Given the description of an element on the screen output the (x, y) to click on. 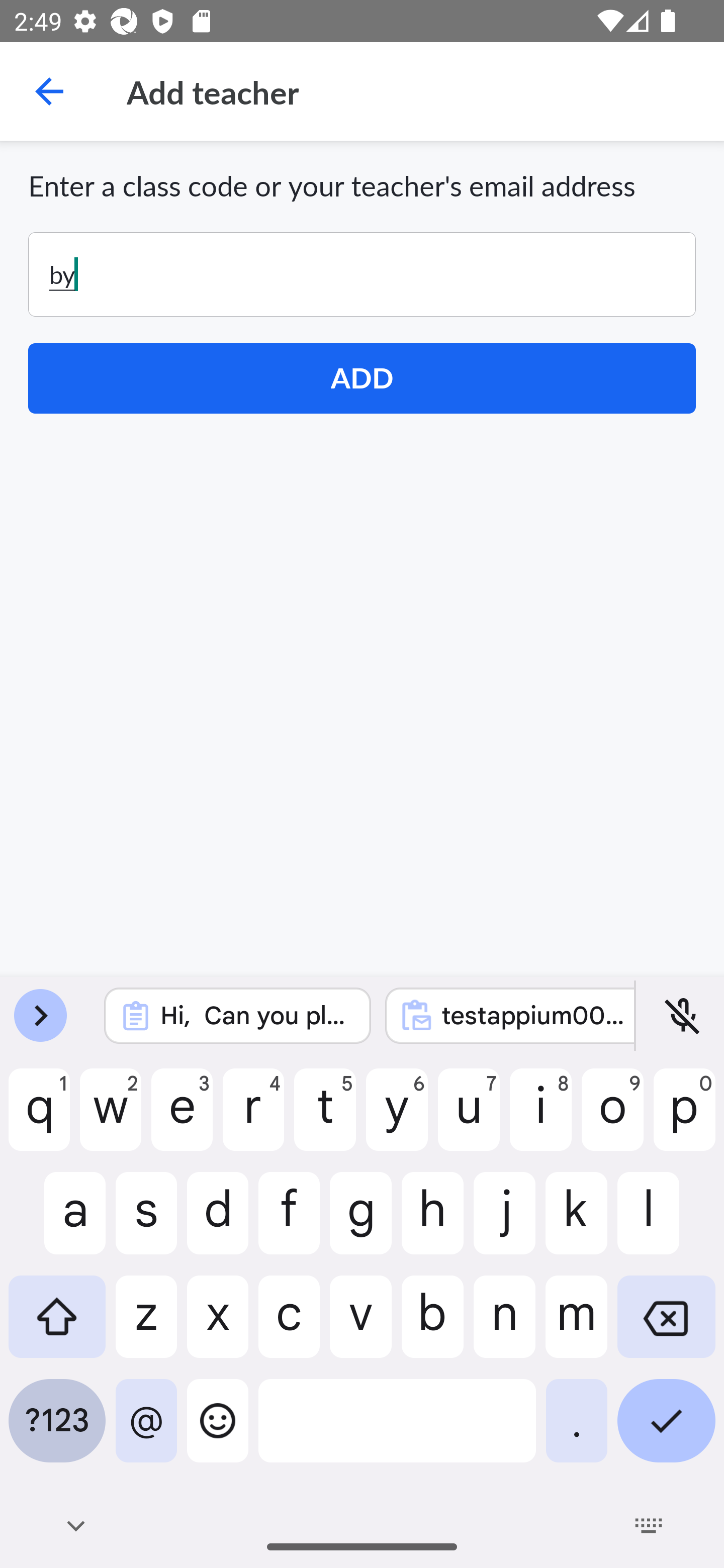
Navigate up (49, 91)
by e.g. ABC123 or teacher@example.com (361, 274)
ADD (361, 378)
